Given the description of an element on the screen output the (x, y) to click on. 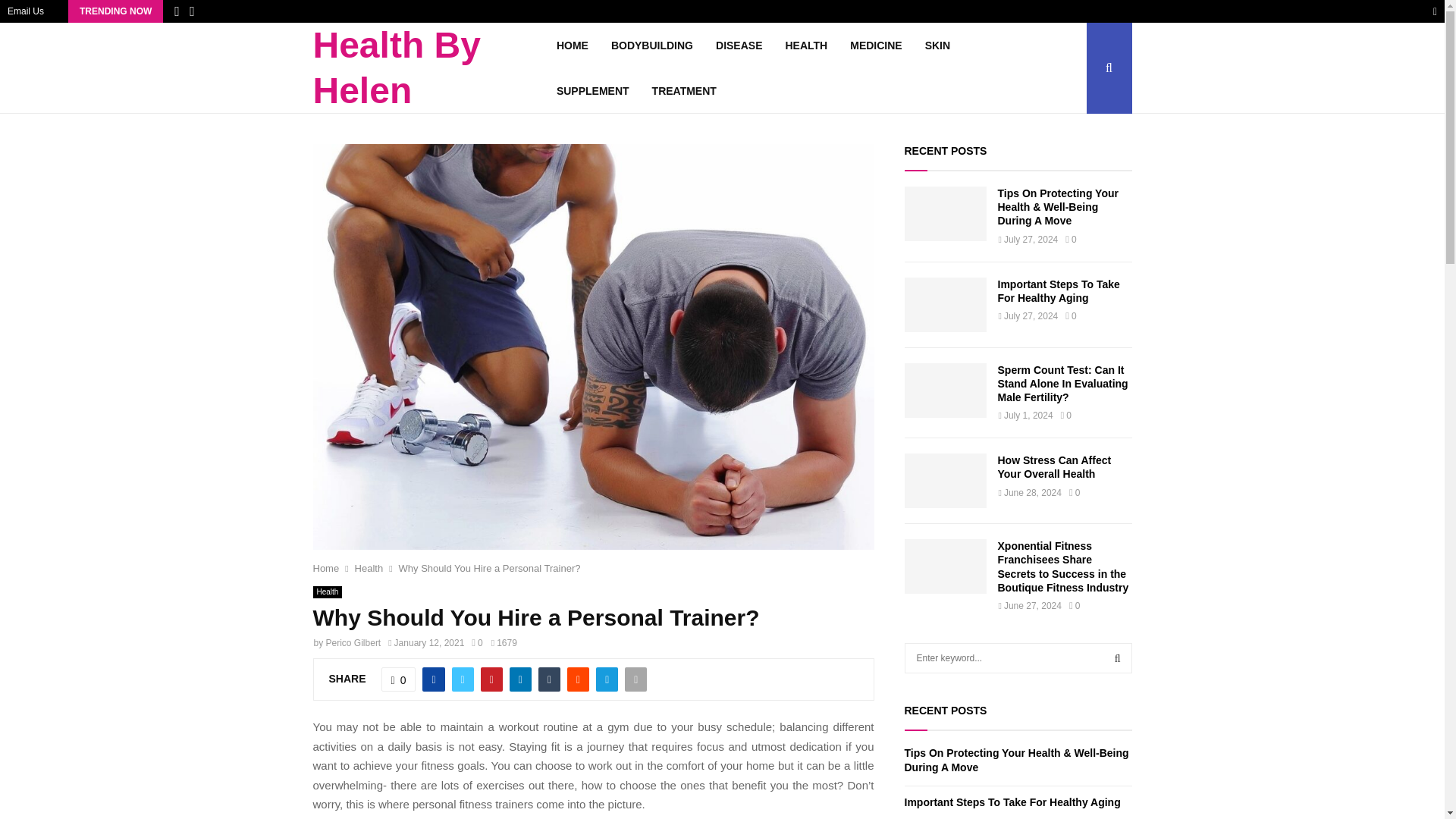
Like (398, 679)
Email Us (25, 11)
Why Should You Hire a Personal Trainer? (489, 568)
MEDICINE (875, 44)
BODYBUILDING (652, 44)
TREATMENT (684, 90)
Health (369, 568)
Perico Gilbert (353, 643)
0 (398, 679)
HEALTH (805, 44)
Health (327, 592)
0 (476, 643)
DISEASE (738, 44)
Health By Helen (434, 67)
Home (326, 568)
